Given the description of an element on the screen output the (x, y) to click on. 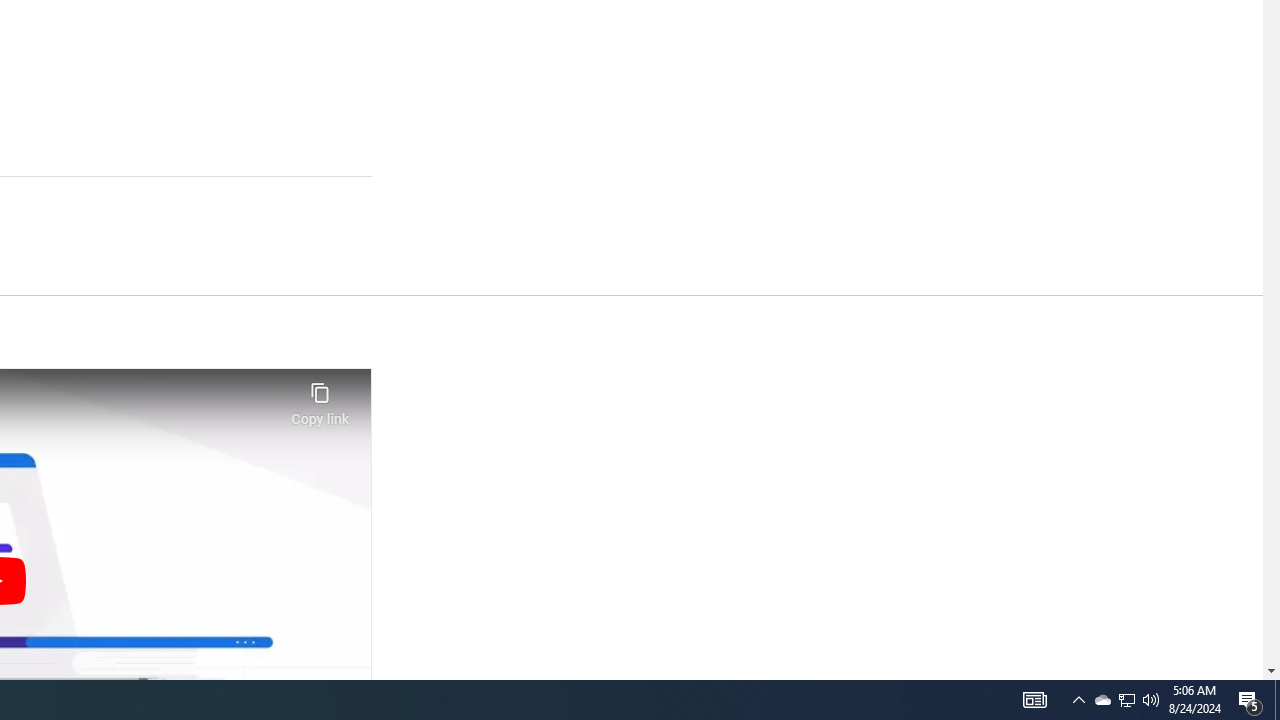
Copy link (319, 398)
